Given the description of an element on the screen output the (x, y) to click on. 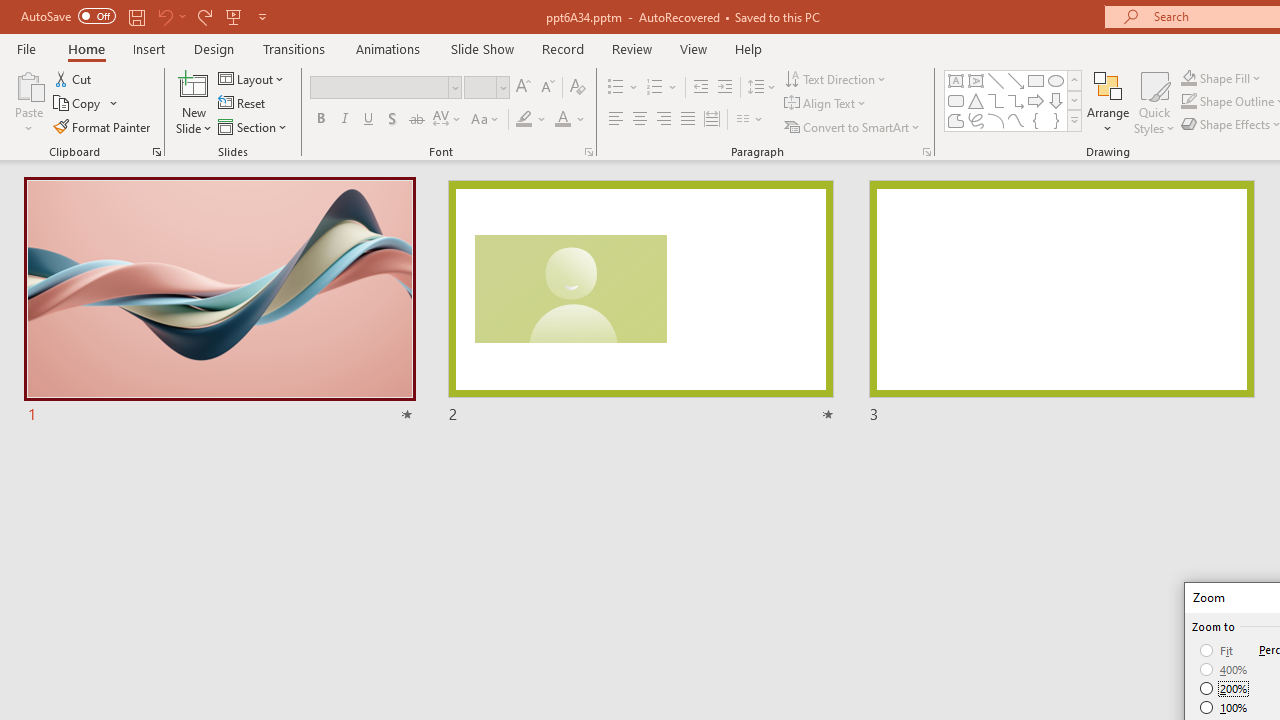
200% (1224, 688)
Fit (1217, 650)
